Given the description of an element on the screen output the (x, y) to click on. 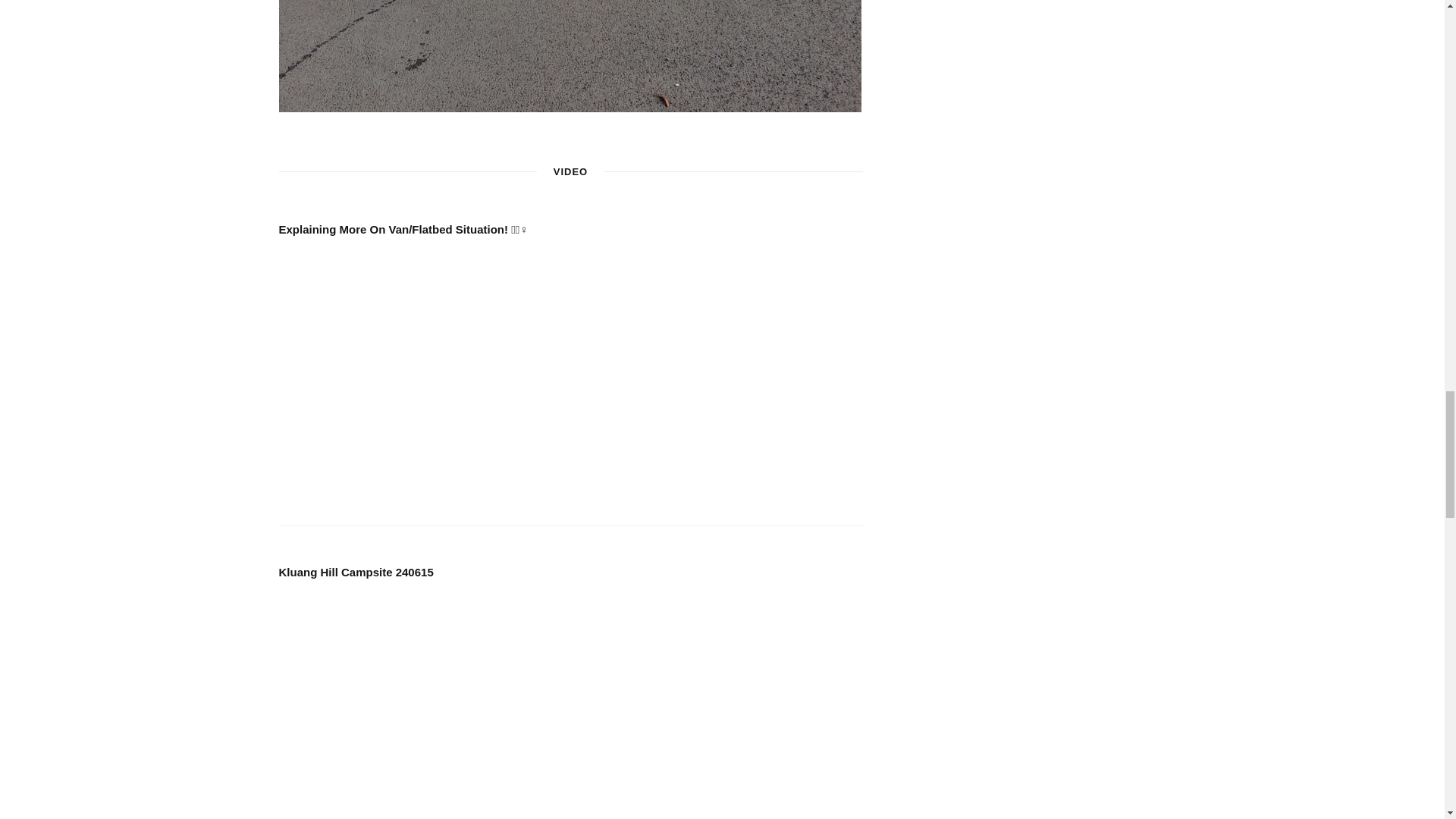
tour operator camping car (570, 56)
